Given the description of an element on the screen output the (x, y) to click on. 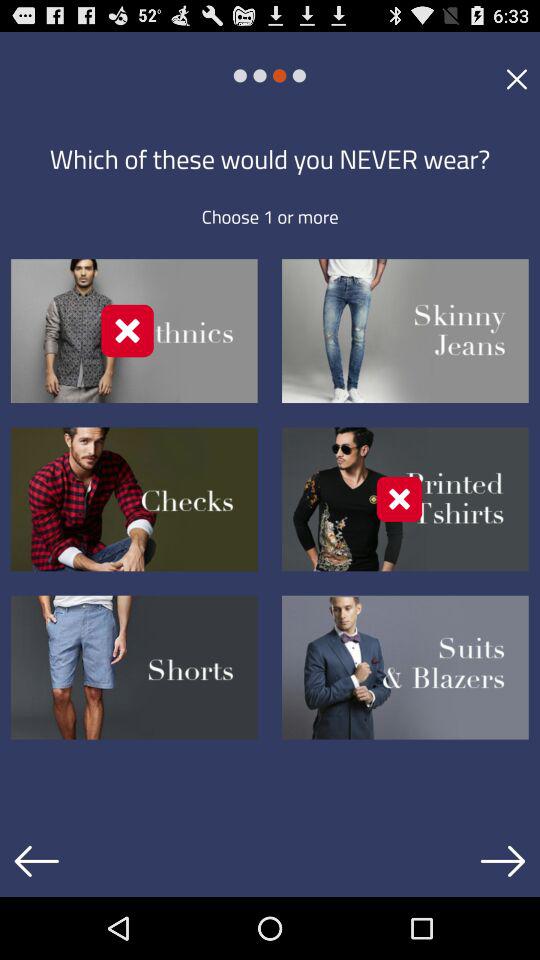
click icon at the top right corner (516, 78)
